Given the description of an element on the screen output the (x, y) to click on. 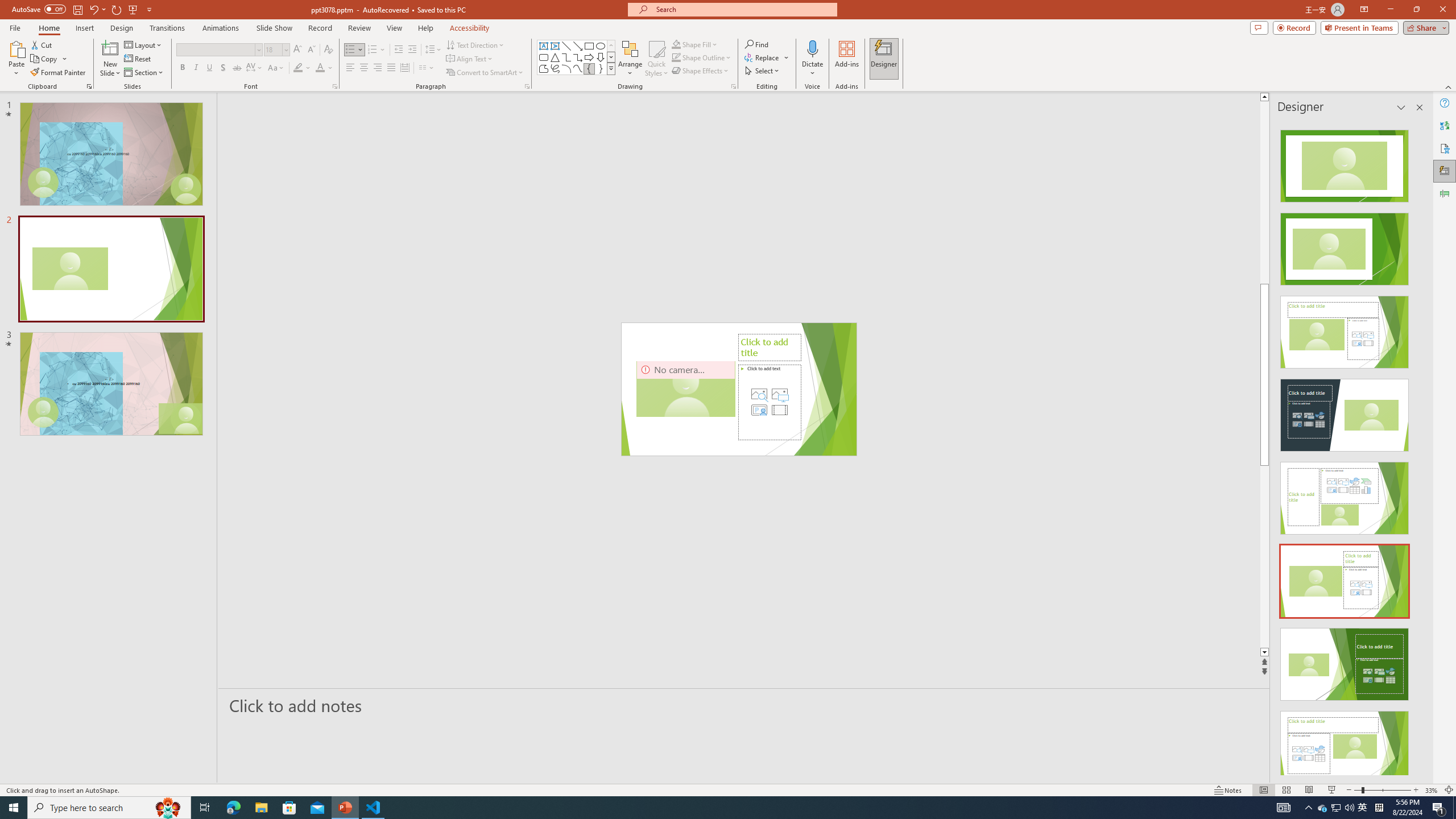
Content Placeholder (769, 402)
